Given the description of an element on the screen output the (x, y) to click on. 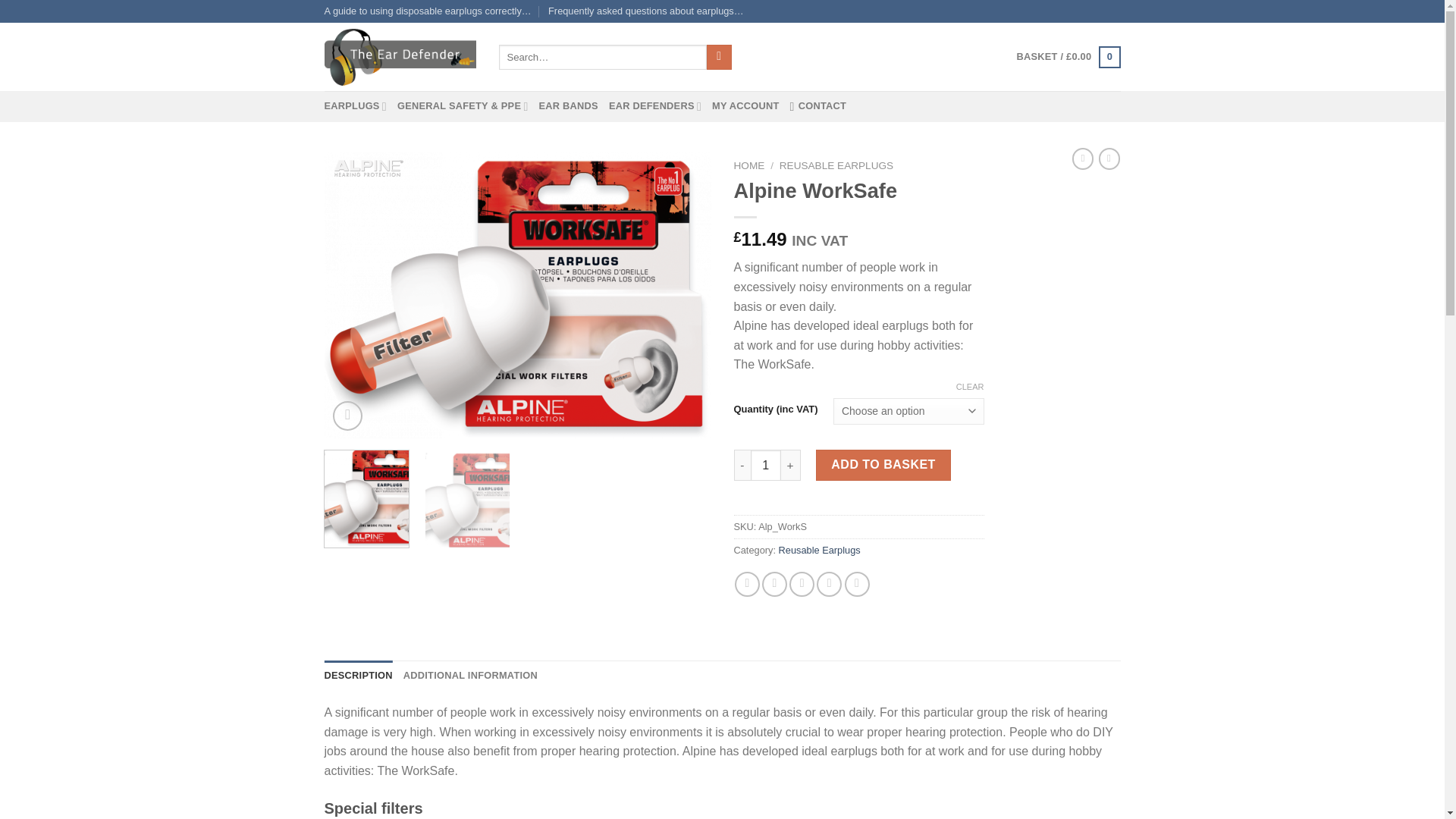
EAR BANDS (567, 105)
EAR DEFENDERS (654, 105)
Share on Facebook (747, 584)
EARPLUGS (355, 105)
HOME (749, 165)
MY ACCOUNT (744, 105)
Email to a Friend (801, 584)
Zoom (347, 415)
CONTACT (818, 105)
Pin on Pinterest (828, 584)
REUSABLE EARPLUGS (835, 165)
Share on Twitter (774, 584)
The Ear Defender - Earplugs for Every Occasion (400, 57)
Basket (1067, 57)
1 (765, 464)
